Given the description of an element on the screen output the (x, y) to click on. 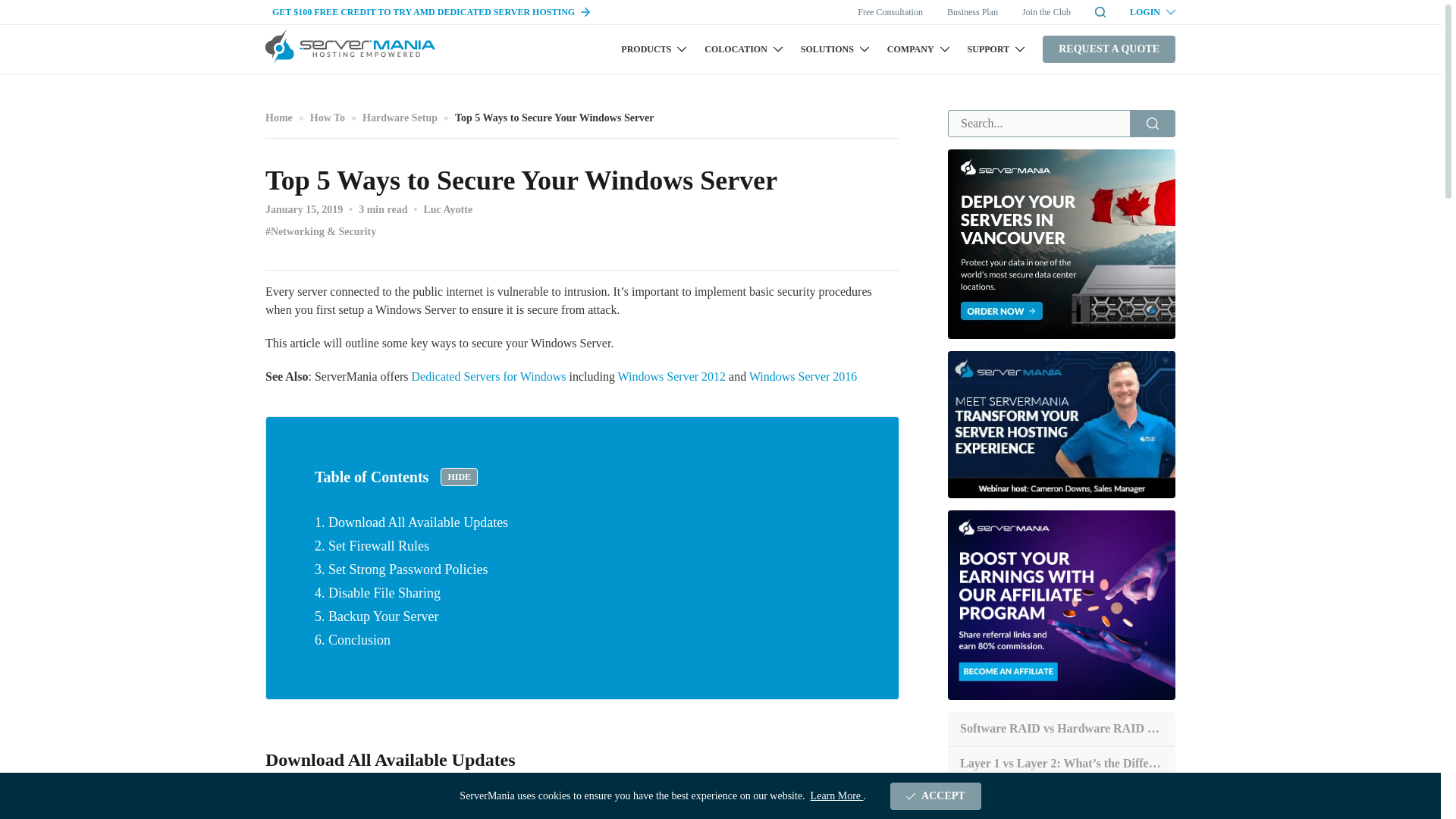
Business Plan (972, 11)
Join the Club (1046, 11)
Free Consultation (890, 11)
